Given the description of an element on the screen output the (x, y) to click on. 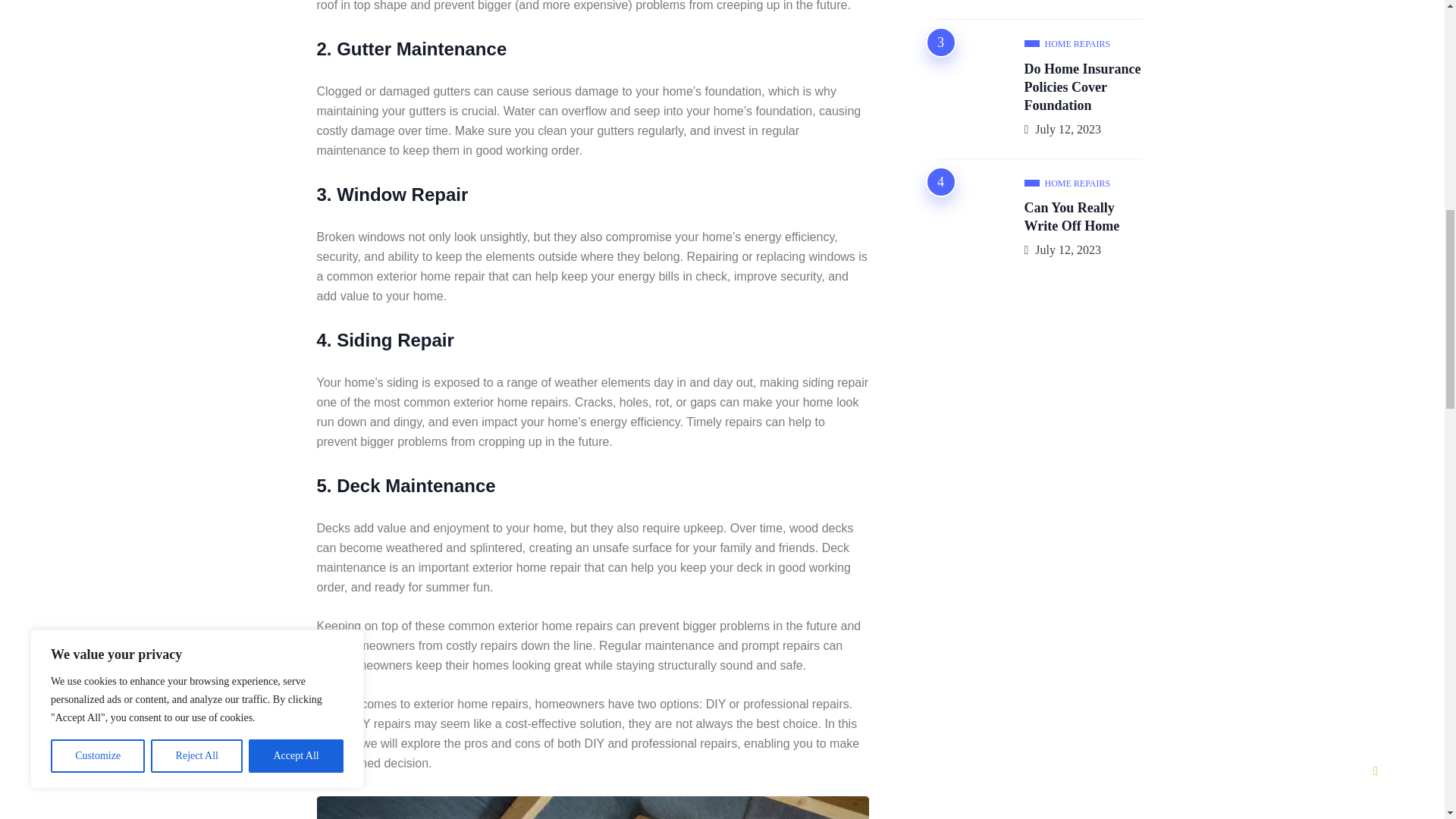
HOME REPAIRS (1066, 44)
Do Home Insurance Policies Cover Foundation (1081, 88)
